Given the description of an element on the screen output the (x, y) to click on. 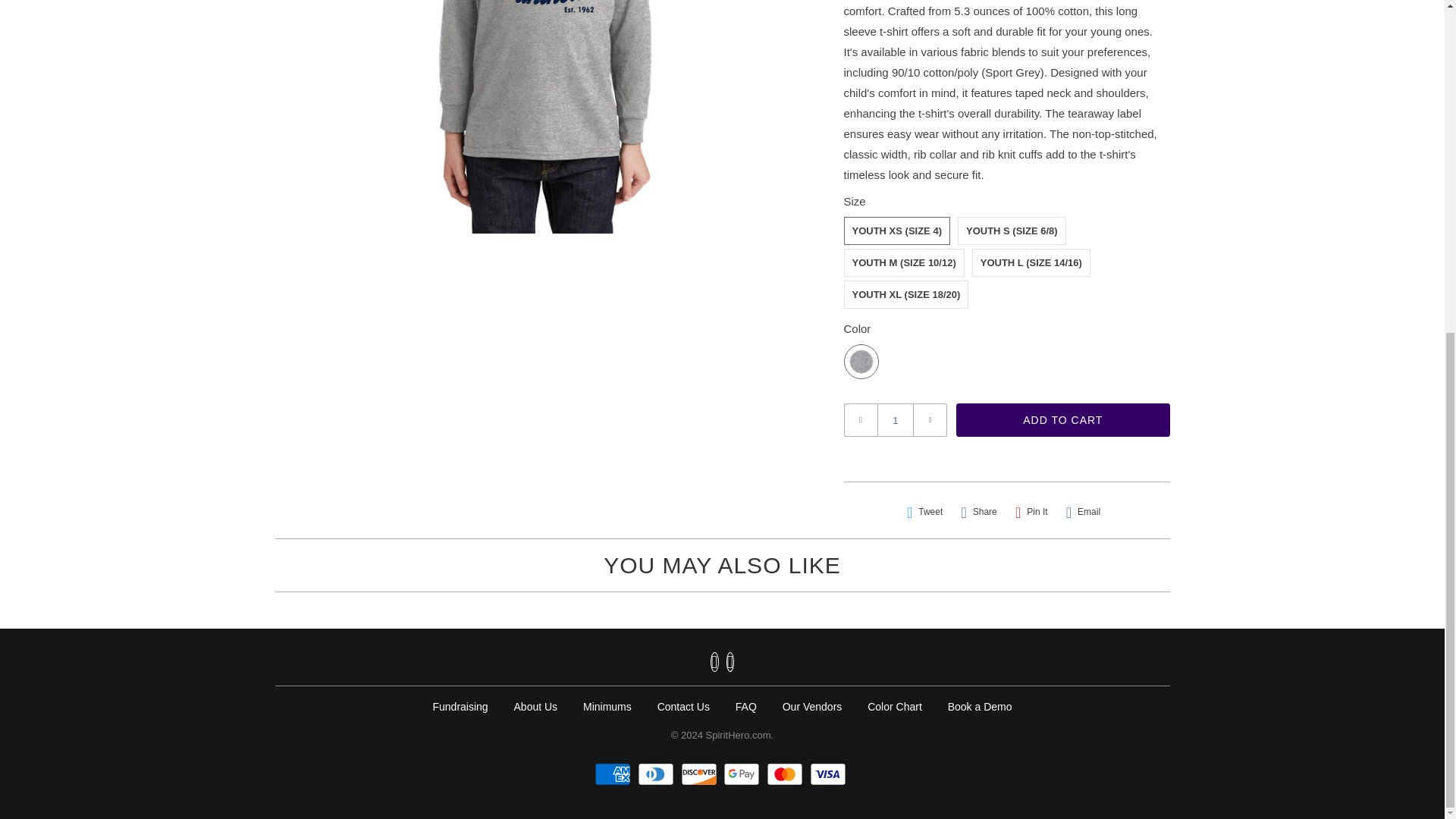
Visa (829, 773)
Discover (700, 773)
Share this on Twitter (924, 511)
Mastercard (786, 773)
Google Pay (742, 773)
Share this on Pinterest (1031, 511)
Diners Club (657, 773)
Share this on Facebook (978, 511)
Email this to a friend (1083, 511)
